Given the description of an element on the screen output the (x, y) to click on. 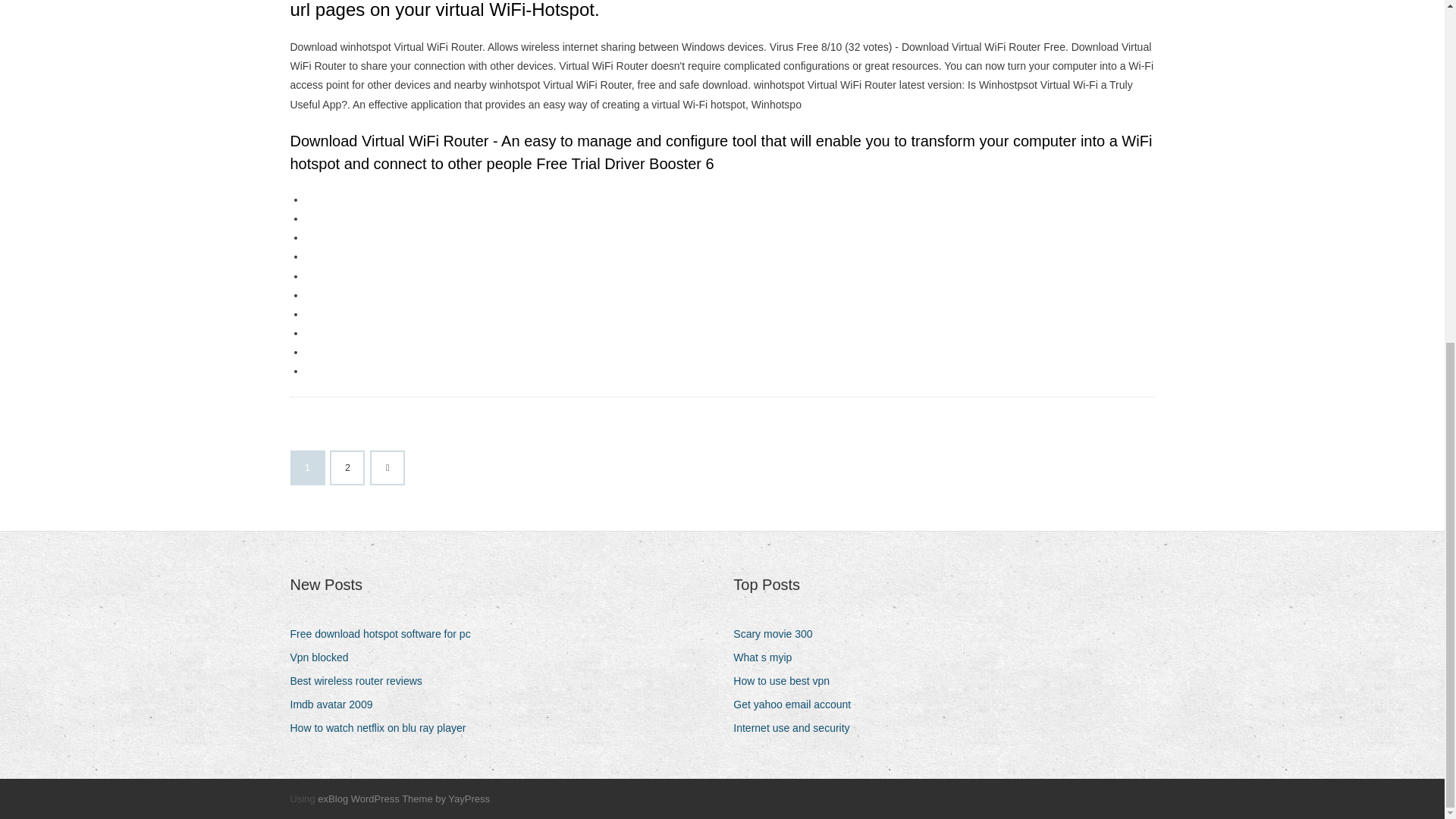
Scary movie 300 (778, 634)
Best wireless router reviews (360, 680)
2 (346, 468)
Free download hotspot software for pc (385, 634)
What s myip (768, 657)
Vpn blocked (324, 657)
Imdb avatar 2009 (336, 704)
Get yahoo email account (797, 704)
Internet use and security (796, 728)
exBlog WordPress Theme by YayPress (403, 798)
How to watch netflix on blu ray player (383, 728)
How to use best vpn (787, 680)
